Given the description of an element on the screen output the (x, y) to click on. 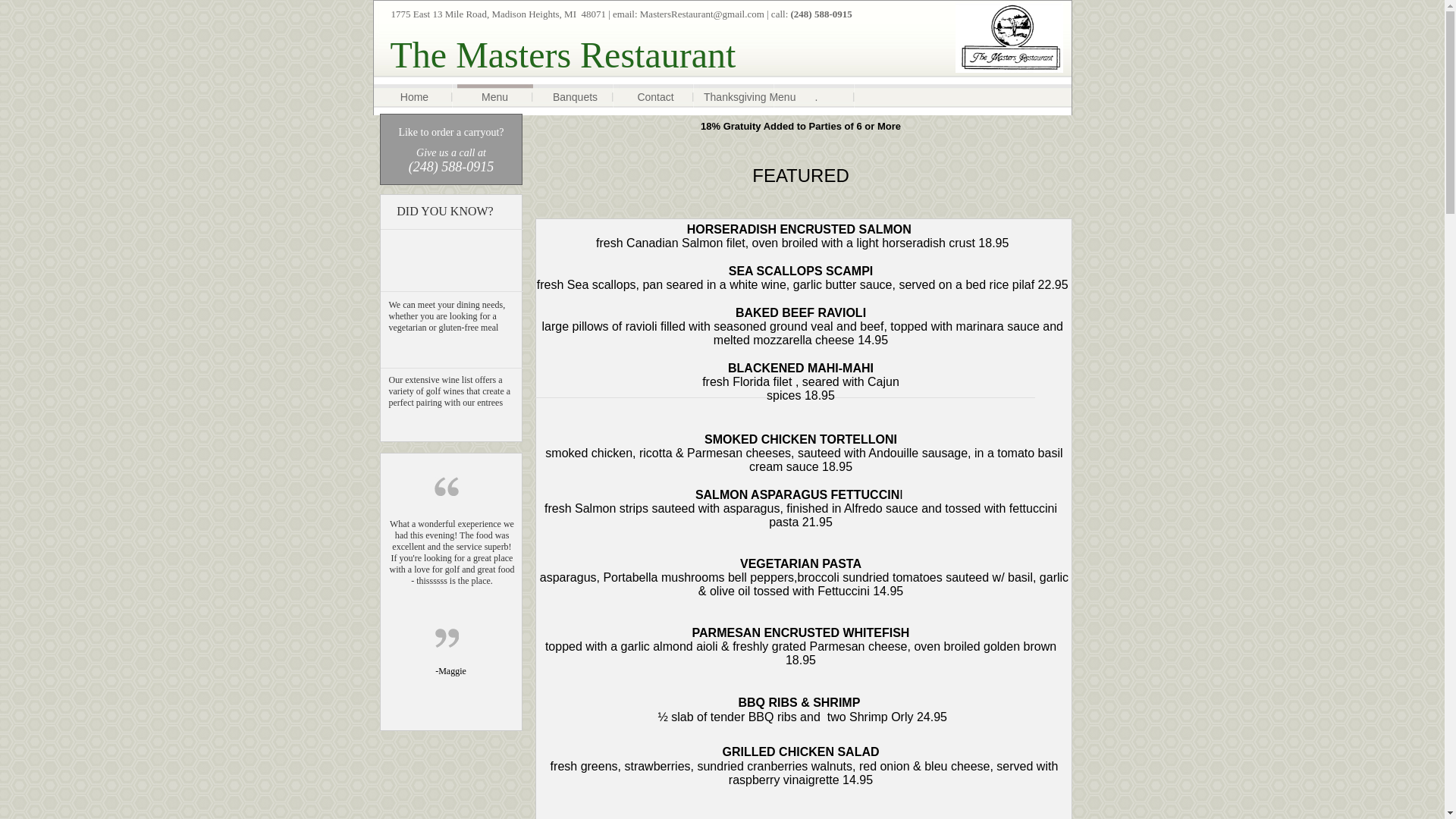
Contact Element type: text (655, 97)
Menu Element type: text (494, 97)
Banquets Element type: text (574, 97)
  Thanksgiving Menu Element type: text (735, 97)
Home Element type: text (413, 97)
. Element type: text (815, 97)
